Given the description of an element on the screen output the (x, y) to click on. 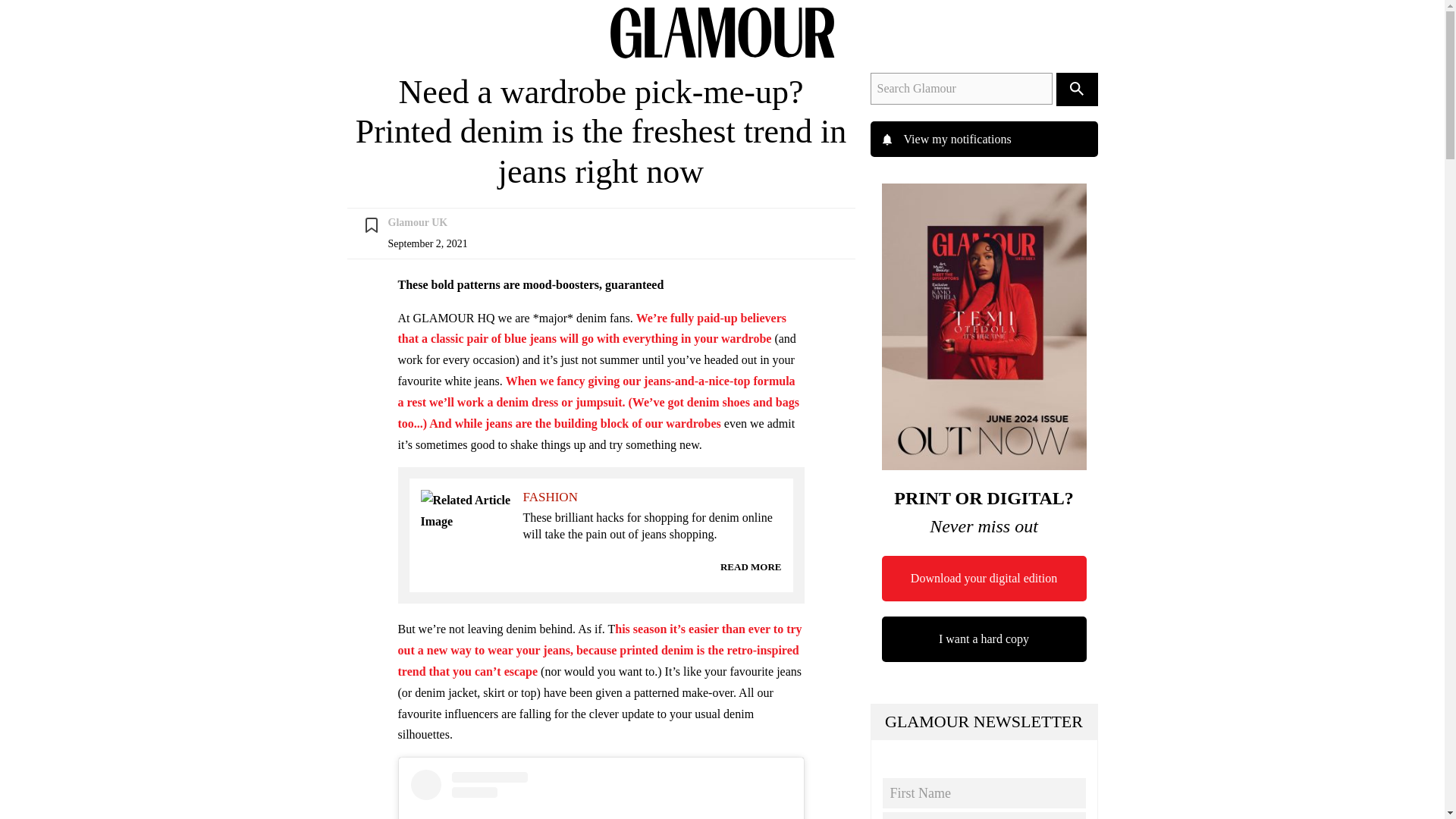
View my notifications (983, 139)
View this post on Instagram (601, 794)
